Given the description of an element on the screen output the (x, y) to click on. 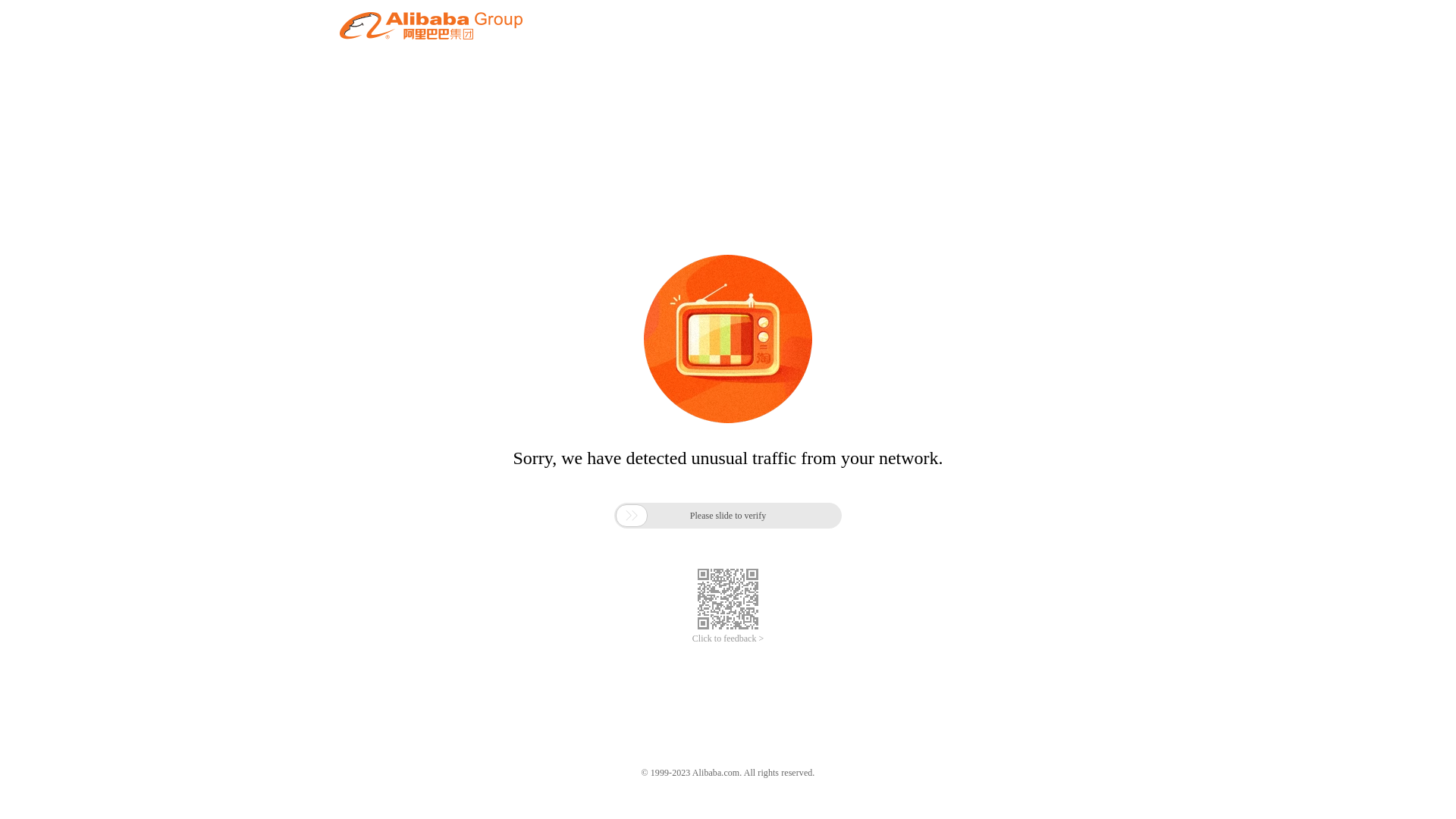
Click to feedback > Element type: text (727, 638)
